Given the description of an element on the screen output the (x, y) to click on. 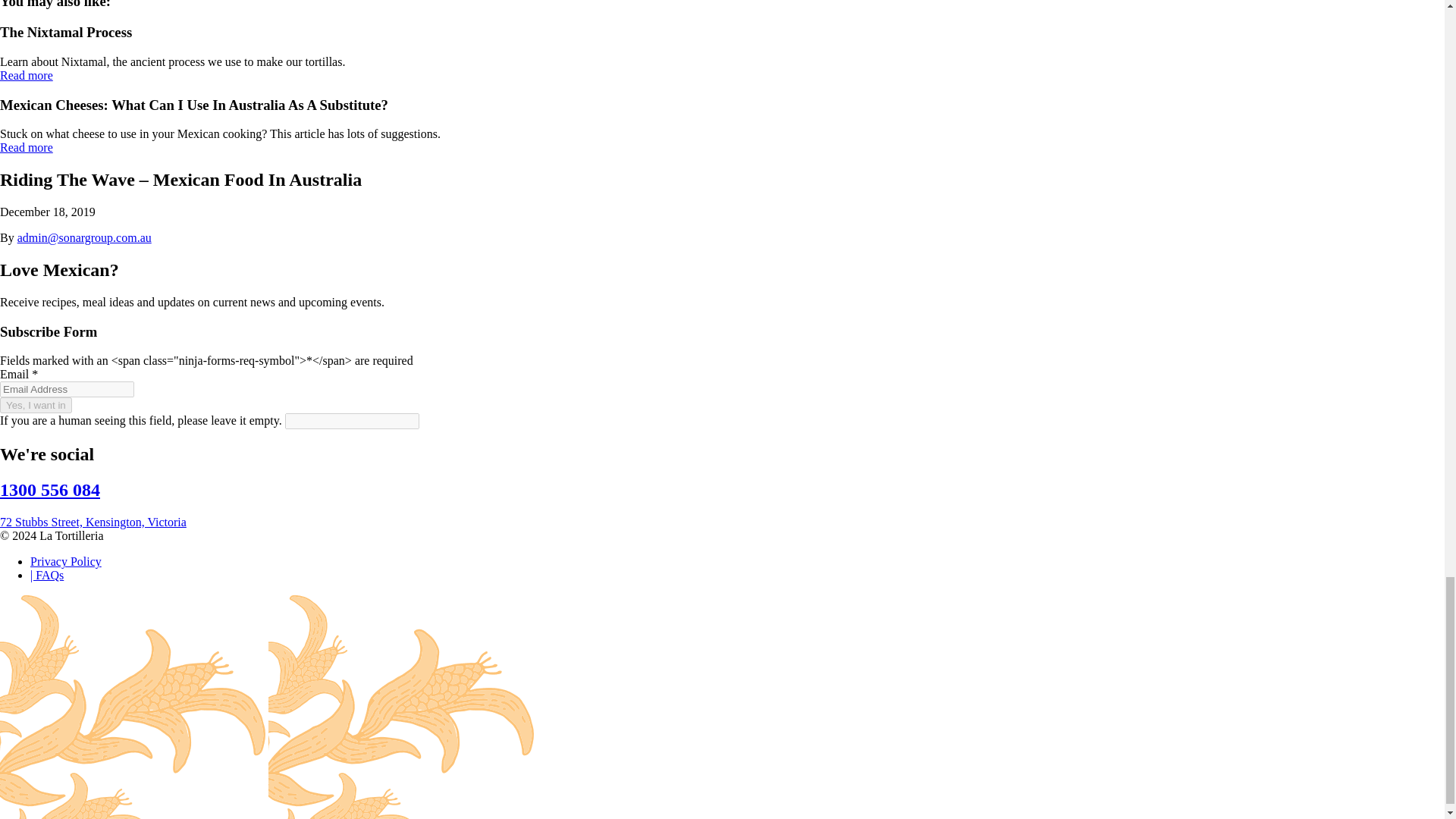
72 Stubbs Street, Kensington, Victoria (93, 521)
1300 556 084 (50, 489)
Read more (26, 74)
Yes, I want in (35, 405)
Read more (26, 146)
Yes, I want in (35, 405)
Privacy Policy (65, 561)
